Given the description of an element on the screen output the (x, y) to click on. 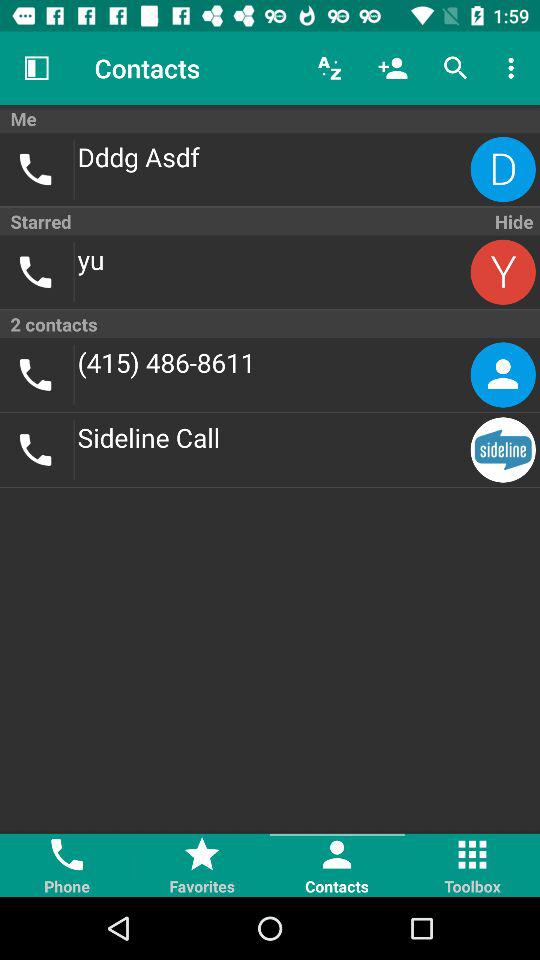
click the icon next to contacts (329, 67)
